Given the description of an element on the screen output the (x, y) to click on. 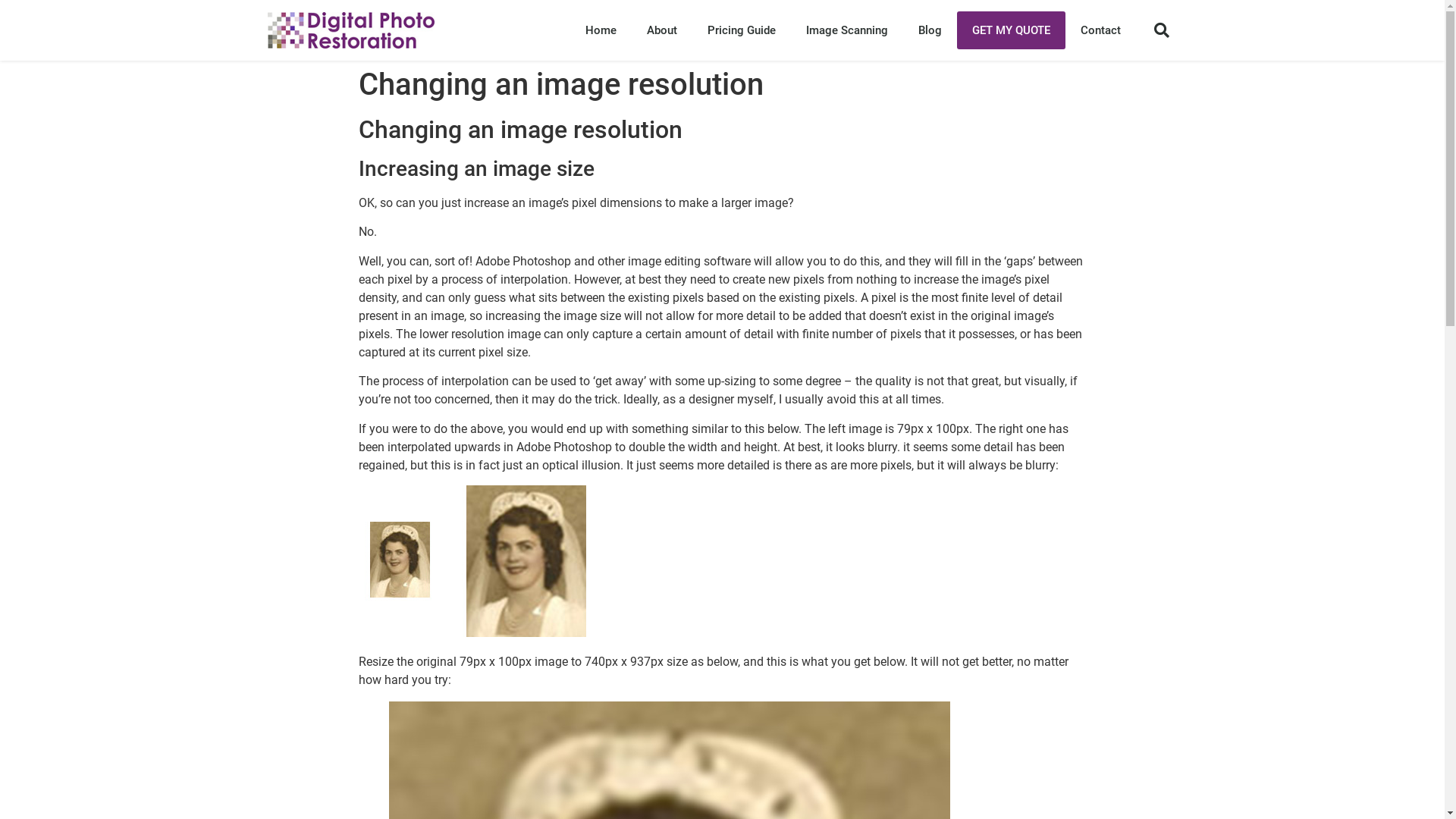
Home Element type: text (600, 30)
About Element type: text (661, 30)
Blog Element type: text (930, 30)
GET MY QUOTE Element type: text (1011, 30)
Pricing Guide Element type: text (741, 30)
Contact Element type: text (1100, 30)
Image Scanning Element type: text (846, 30)
